Given the description of an element on the screen output the (x, y) to click on. 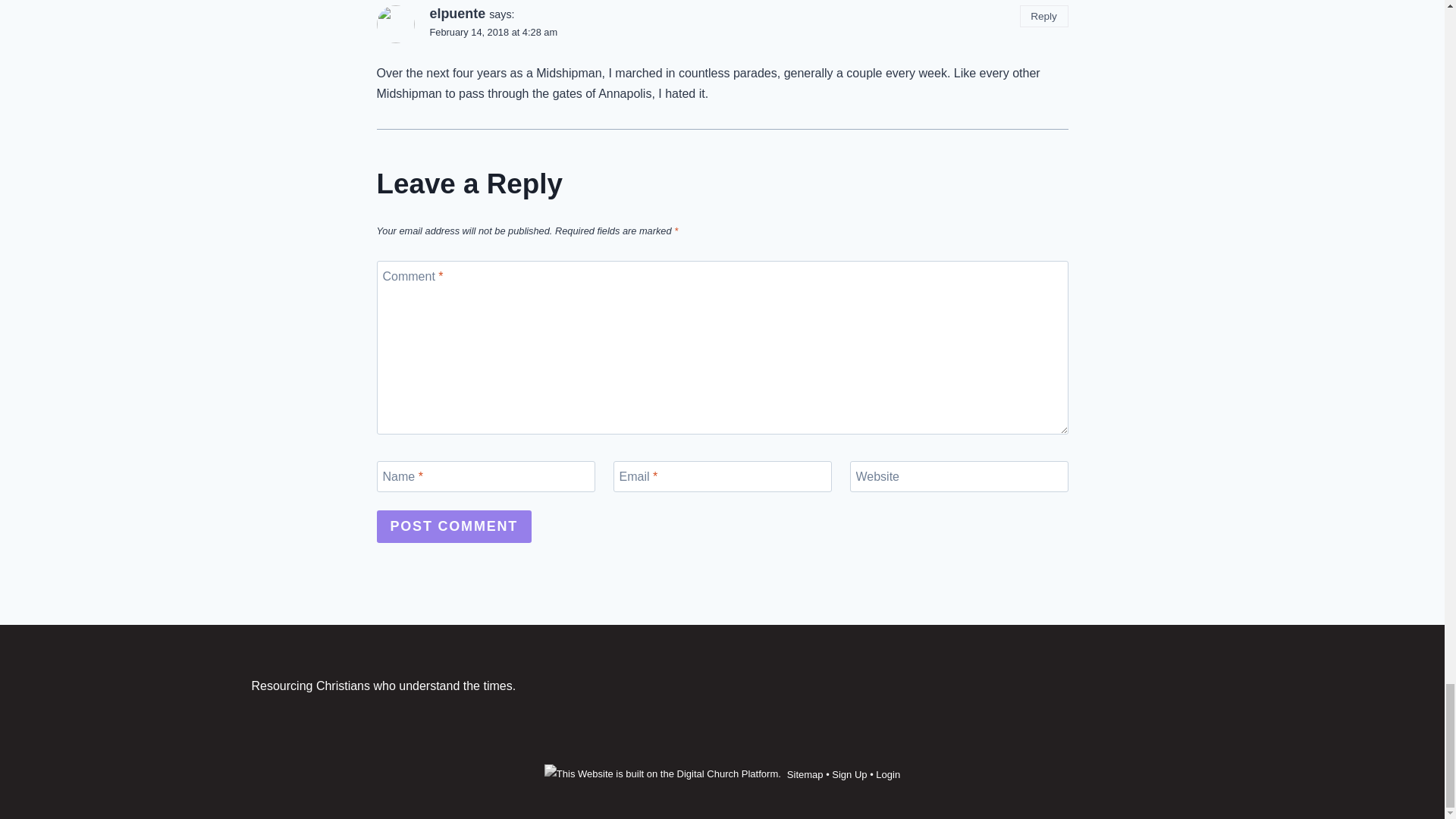
Post Comment (453, 526)
